Given the description of an element on the screen output the (x, y) to click on. 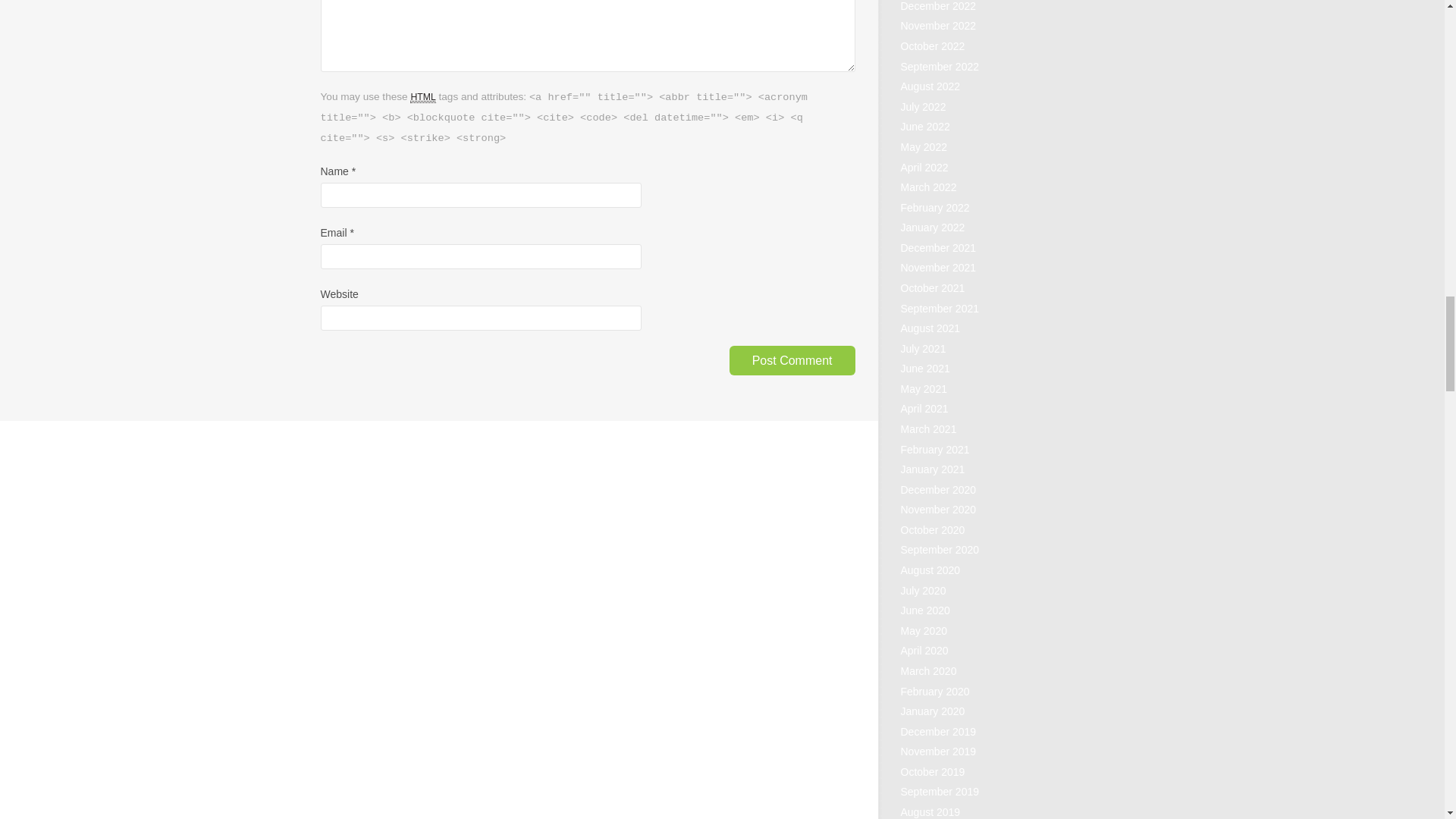
Post Comment (792, 360)
Post Comment (792, 360)
HyperText Markup Language (422, 97)
